Given the description of an element on the screen output the (x, y) to click on. 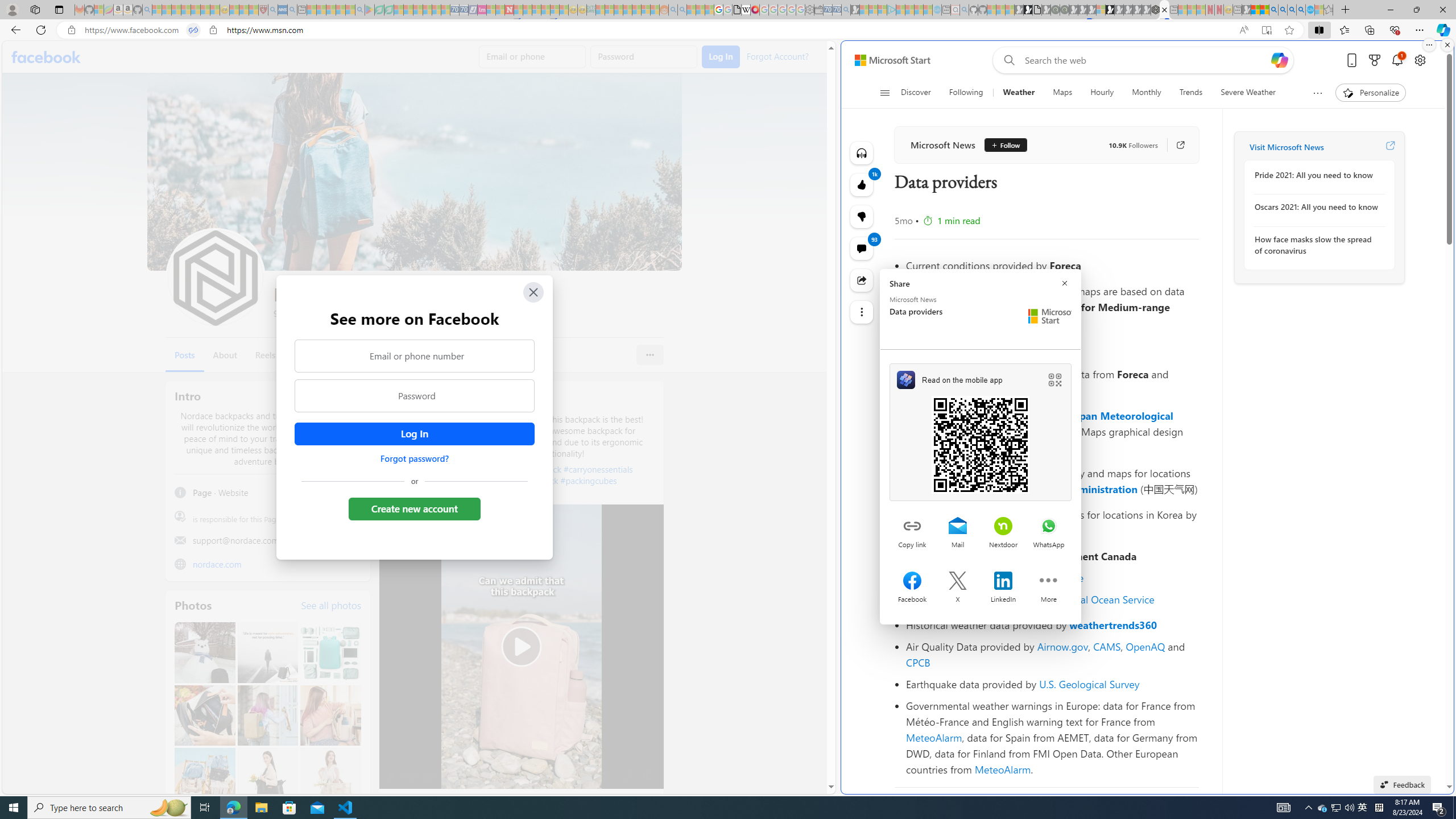
How face masks slow the spread of coronavirus (1316, 244)
github - Search - Sleeping (964, 9)
Read on the mobile app (980, 432)
Follow (1001, 144)
1k (861, 216)
